Given the description of an element on the screen output the (x, y) to click on. 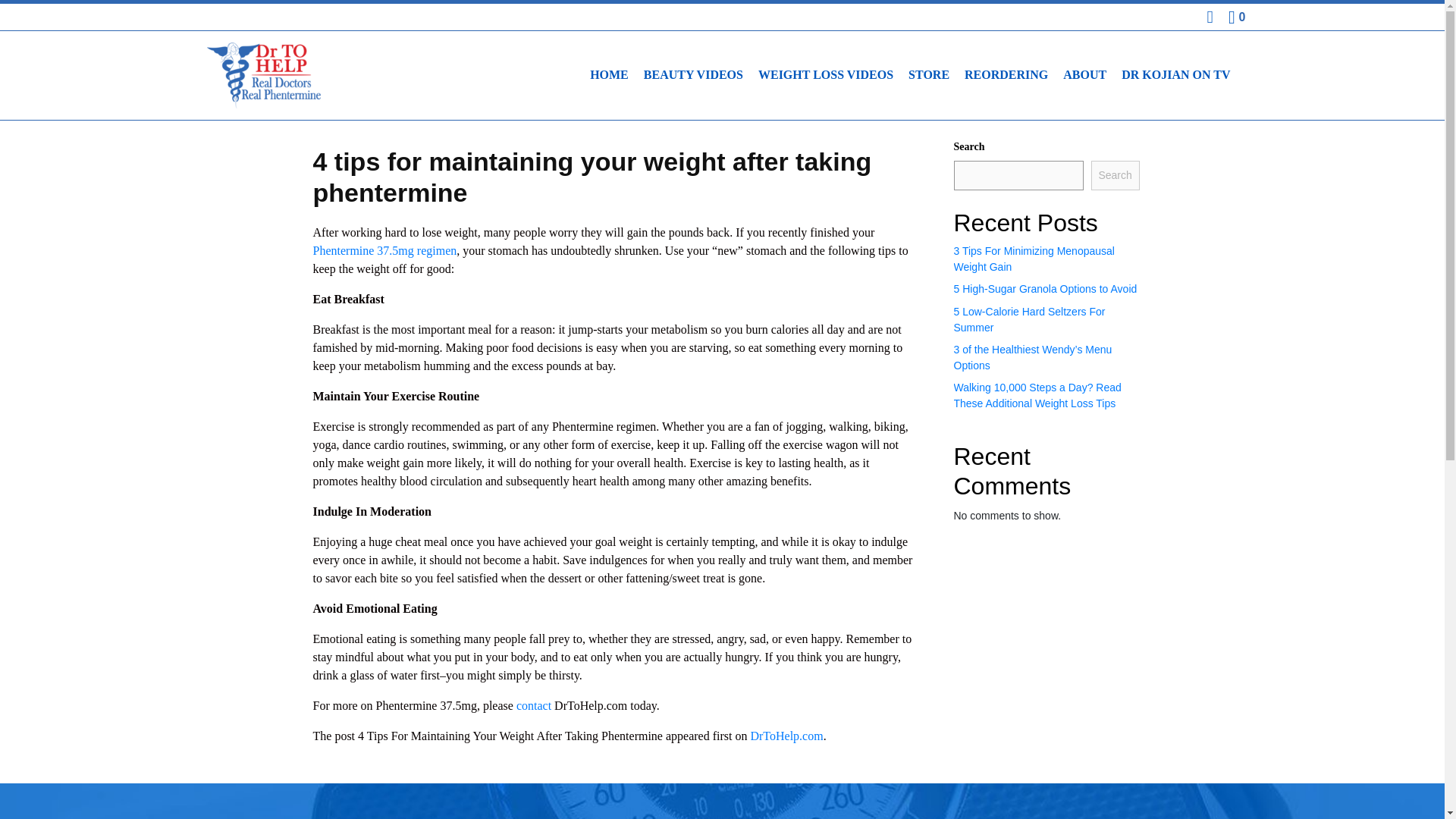
WEIGHT LOSS VIDEOS (826, 74)
BEAUTY VIDEOS (693, 74)
0 (1236, 17)
DR KOJIAN ON TV (1175, 74)
5 Low-Calorie Hard Seltzers For Summer (1029, 319)
contact (533, 705)
REORDERING (1005, 74)
Phentermine 37.5mg regimen (385, 250)
5 High-Sugar Granola Options to Avoid (1045, 288)
